Given the description of an element on the screen output the (x, y) to click on. 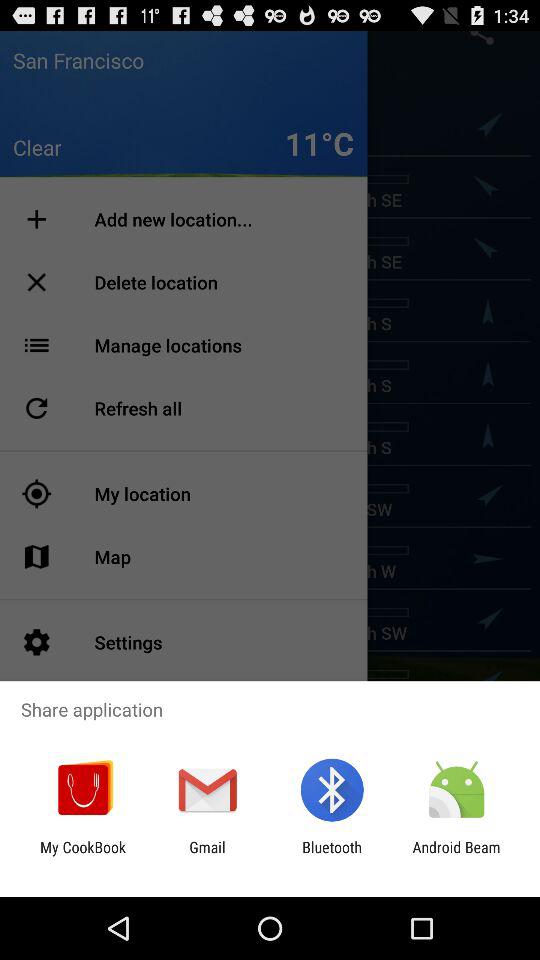
launch the icon next to the bluetooth item (207, 856)
